Given the description of an element on the screen output the (x, y) to click on. 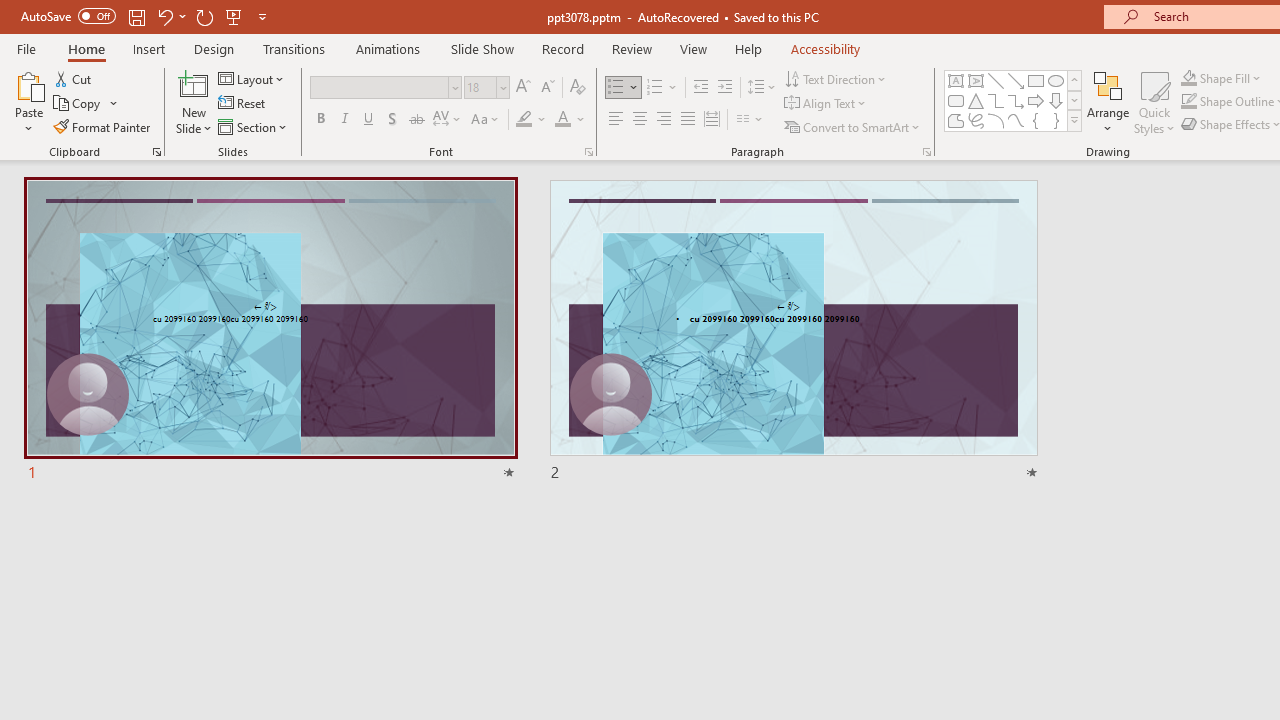
Convert to SmartArt (853, 126)
Shapes (1074, 120)
AutoSave (68, 16)
Line Spacing (762, 87)
Rectangle: Rounded Corners (955, 100)
Row up (1074, 79)
Text Highlight Color Yellow (524, 119)
Change Case (486, 119)
View (693, 48)
Clear Formatting (577, 87)
Accessibility (825, 48)
Font (379, 87)
Numbering (654, 87)
Redo (204, 15)
Copy (85, 103)
